Given the description of an element on the screen output the (x, y) to click on. 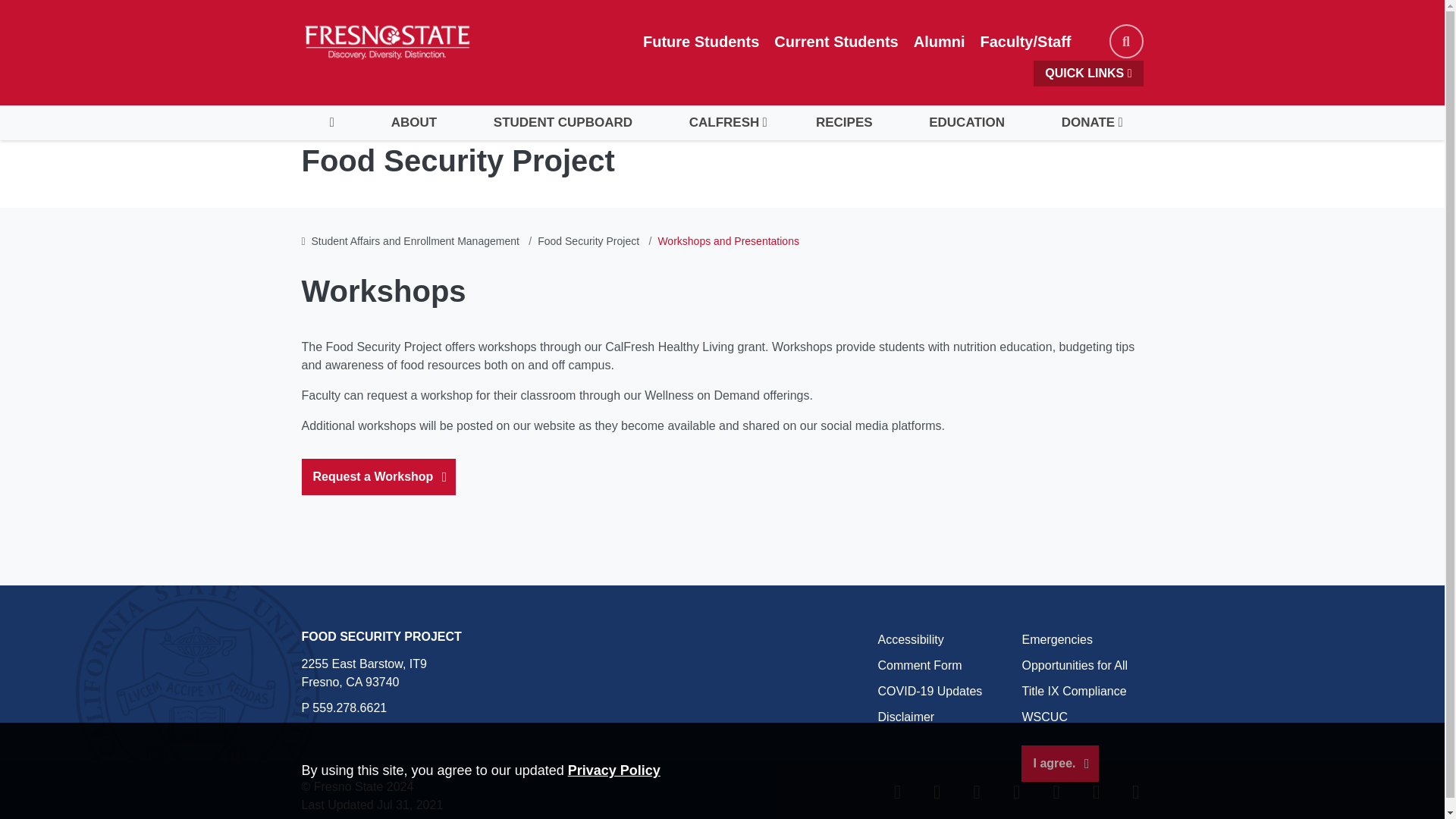
Future Students (700, 41)
EDUCATION (966, 122)
I agree. (1059, 763)
DONATE (1087, 122)
QUICK LINKS (1087, 73)
RECIPES (844, 122)
ABOUT (413, 122)
Food Security Project link in the footer section (381, 635)
Alumni (938, 41)
Current Students (836, 41)
HOME (331, 122)
STUDENT CUPBOARD (562, 122)
Quick Links (1087, 73)
Privacy Policy (614, 770)
CALFRESH (724, 122)
